Given the description of an element on the screen output the (x, y) to click on. 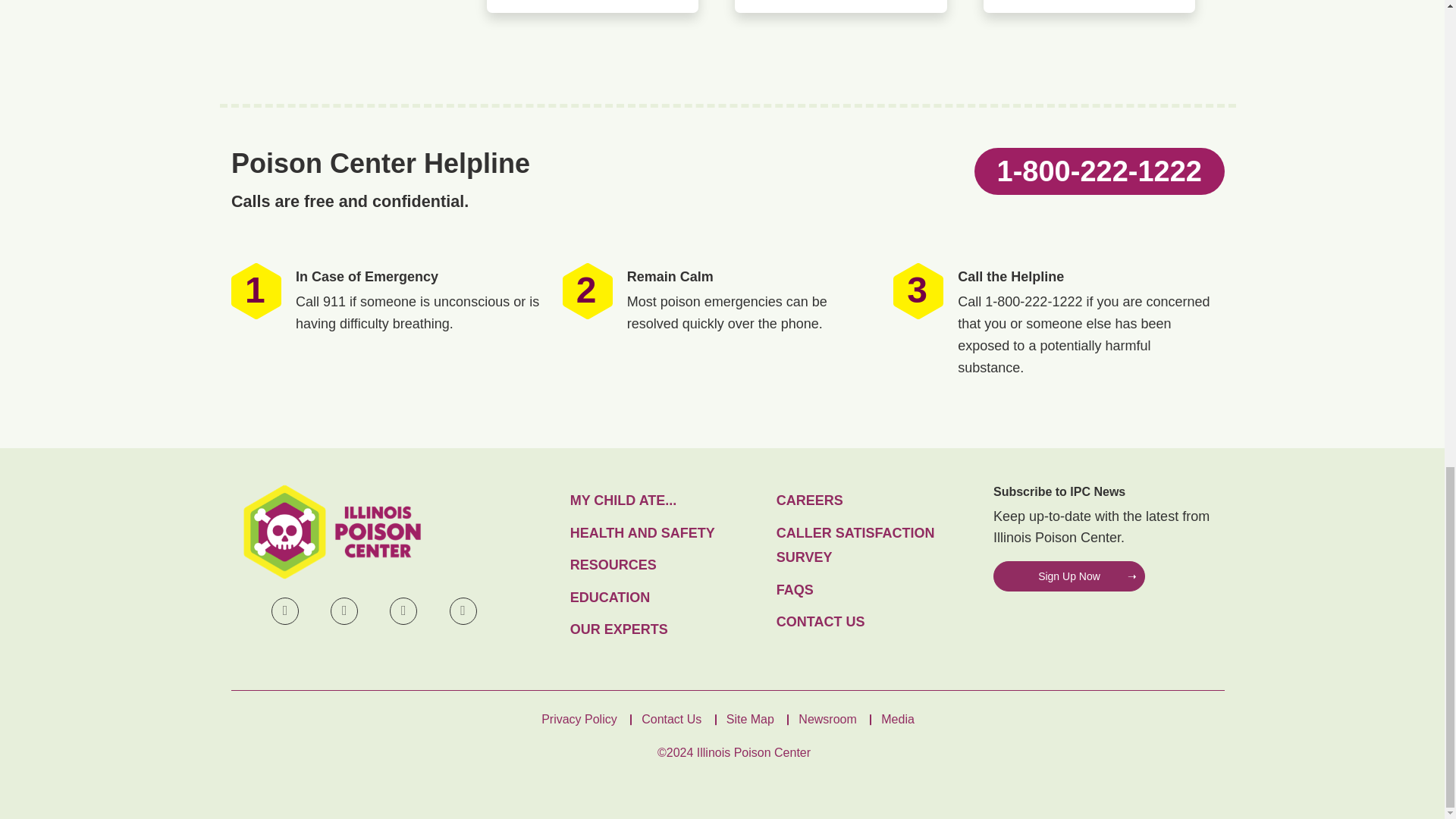
MY CHILD ATE... (667, 500)
RESOURCES (667, 564)
CONTACT US (873, 622)
EDUCATION (667, 597)
Privacy Policy (579, 718)
IPC Blog (463, 610)
FAQS (873, 590)
IPC Blog (463, 610)
IPC on YouTube (403, 610)
CAREERS (873, 500)
